Given the description of an element on the screen output the (x, y) to click on. 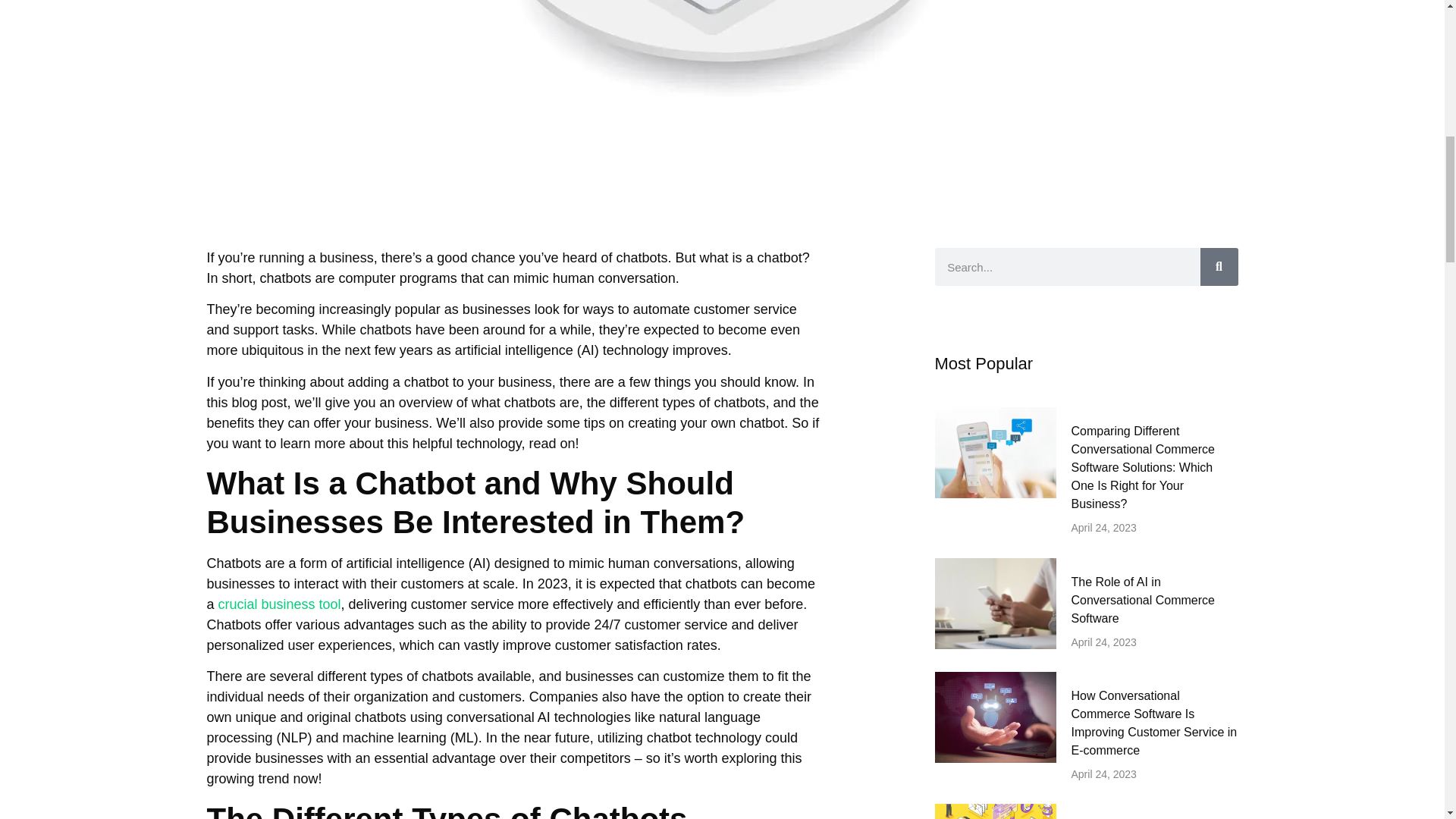
The Role of AI in Conversational Commerce Software (1142, 599)
crucial business tool (279, 604)
